Given the description of an element on the screen output the (x, y) to click on. 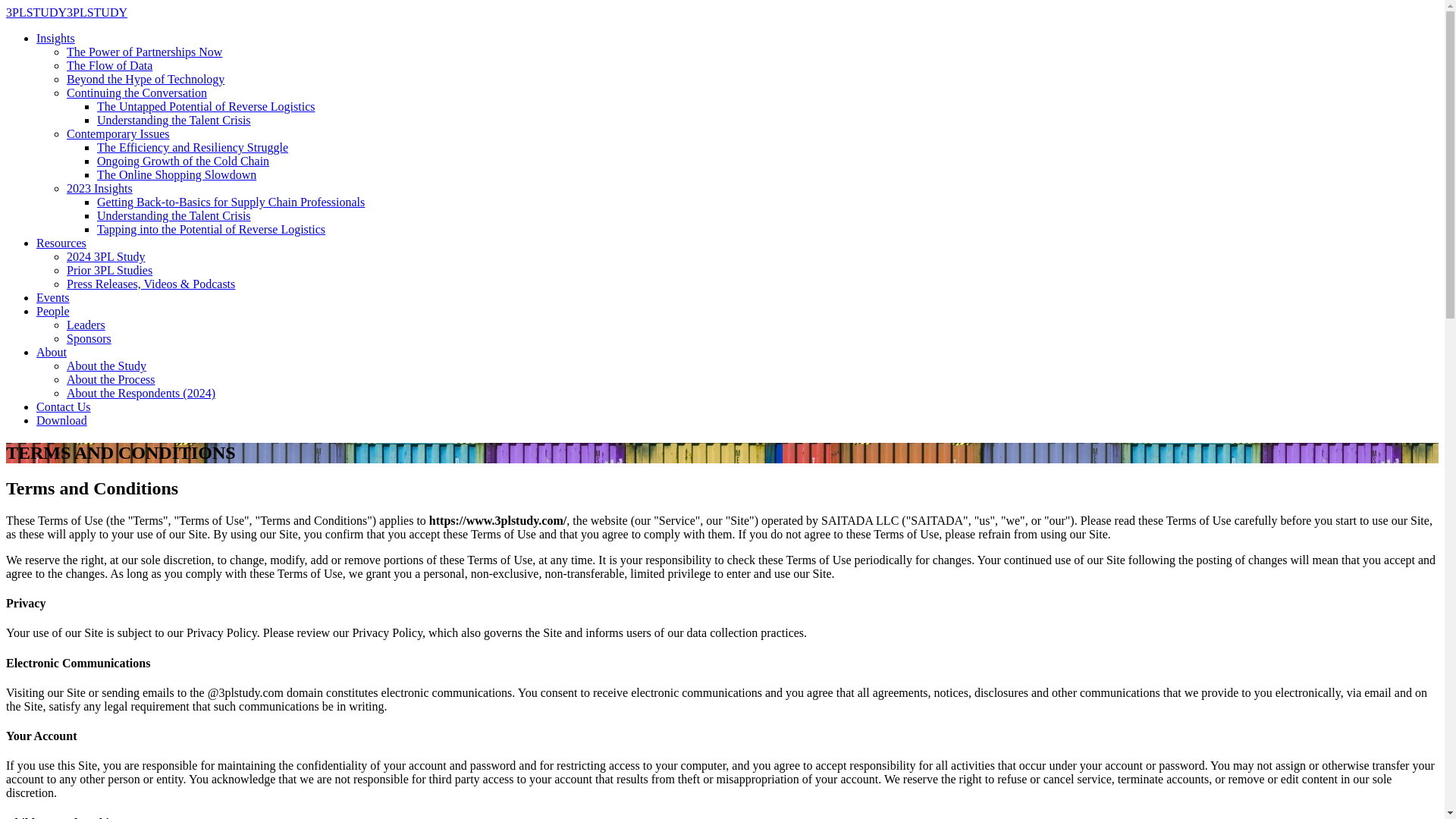
3PLSTUDY3PLSTUDY Element type: text (66, 12)
Leaders Element type: text (85, 324)
About the Process Element type: text (110, 379)
Getting Back-to-Basics for Supply Chain Professionals Element type: text (230, 201)
Insights Element type: text (55, 37)
Tapping into the Potential of Reverse Logistics Element type: text (211, 228)
Continuing the Conversation Element type: text (136, 92)
Resources Element type: text (61, 242)
The Power of Partnerships Now Element type: text (144, 51)
Ongoing Growth of the Cold Chain Element type: text (183, 160)
The Untapped Potential of Reverse Logistics Element type: text (205, 106)
2023 Insights Element type: text (99, 188)
Beyond the Hype of Technology Element type: text (145, 78)
Understanding the Talent Crisis Element type: text (174, 119)
Events Element type: text (52, 297)
The Online Shopping Slowdown Element type: text (176, 174)
People Element type: text (52, 310)
Contemporary Issues Element type: text (117, 133)
About the Study Element type: text (106, 365)
The Flow of Data Element type: text (109, 65)
About the Respondents (2024) Element type: text (140, 392)
Understanding the Talent Crisis Element type: text (174, 215)
Prior 3PL Studies Element type: text (109, 269)
Sponsors Element type: text (88, 338)
Contact Us Element type: text (63, 406)
The Efficiency and Resiliency Struggle Element type: text (192, 147)
Download Element type: text (61, 420)
Press Releases, Videos & Podcasts Element type: text (150, 283)
About Element type: text (51, 351)
2024 3PL Study Element type: text (105, 256)
